Given the description of an element on the screen output the (x, y) to click on. 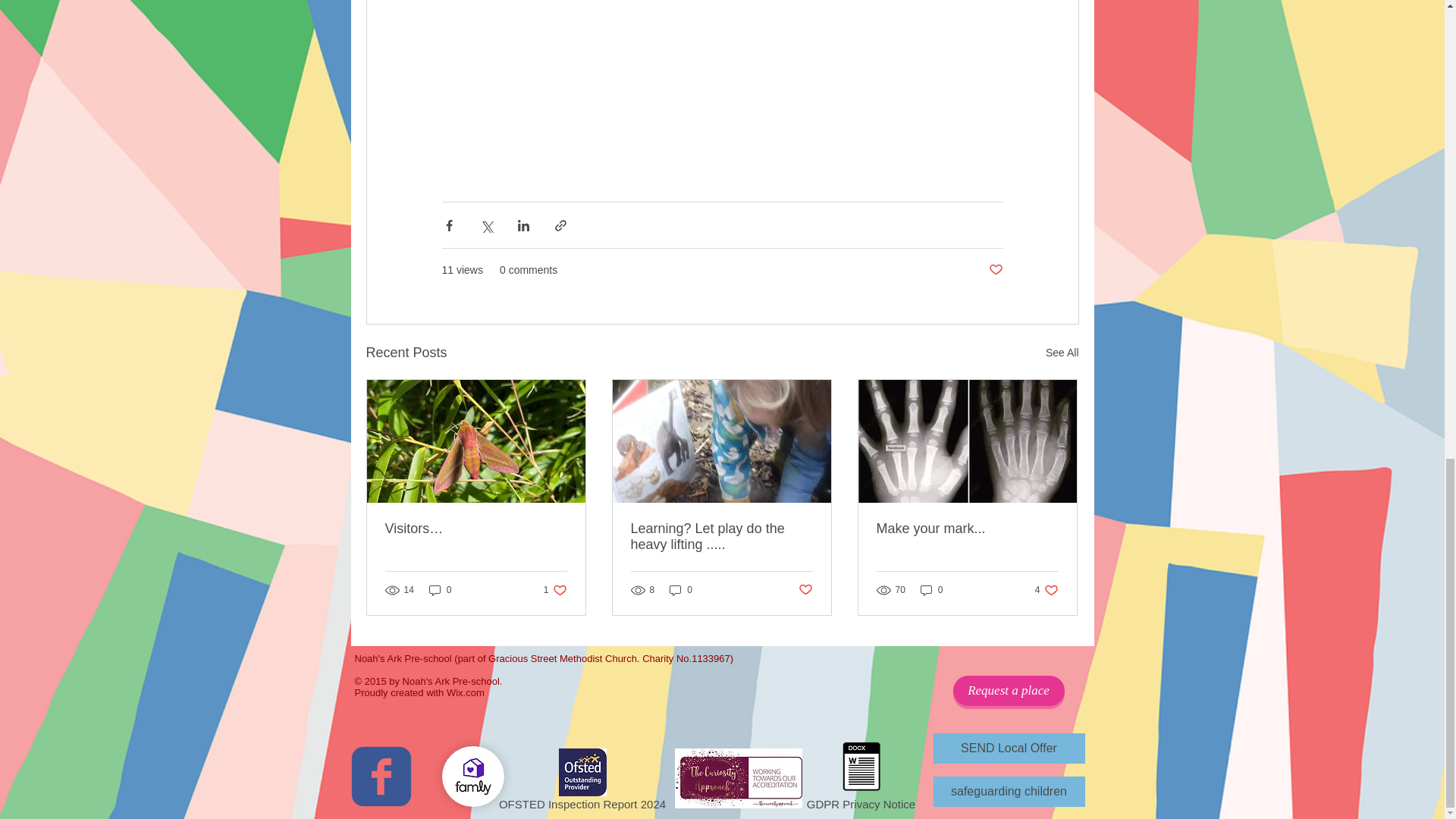
0 (931, 590)
GDPR Privacy Notice (860, 776)
Wix.com (465, 692)
Working Towards Logo (738, 778)
Learning? Let play do the heavy lifting ..... (721, 536)
OFSTED Inspection Report 2024 (582, 781)
0 (681, 590)
Request a place (1008, 690)
Post not marked as liked (995, 270)
